Given the description of an element on the screen output the (x, y) to click on. 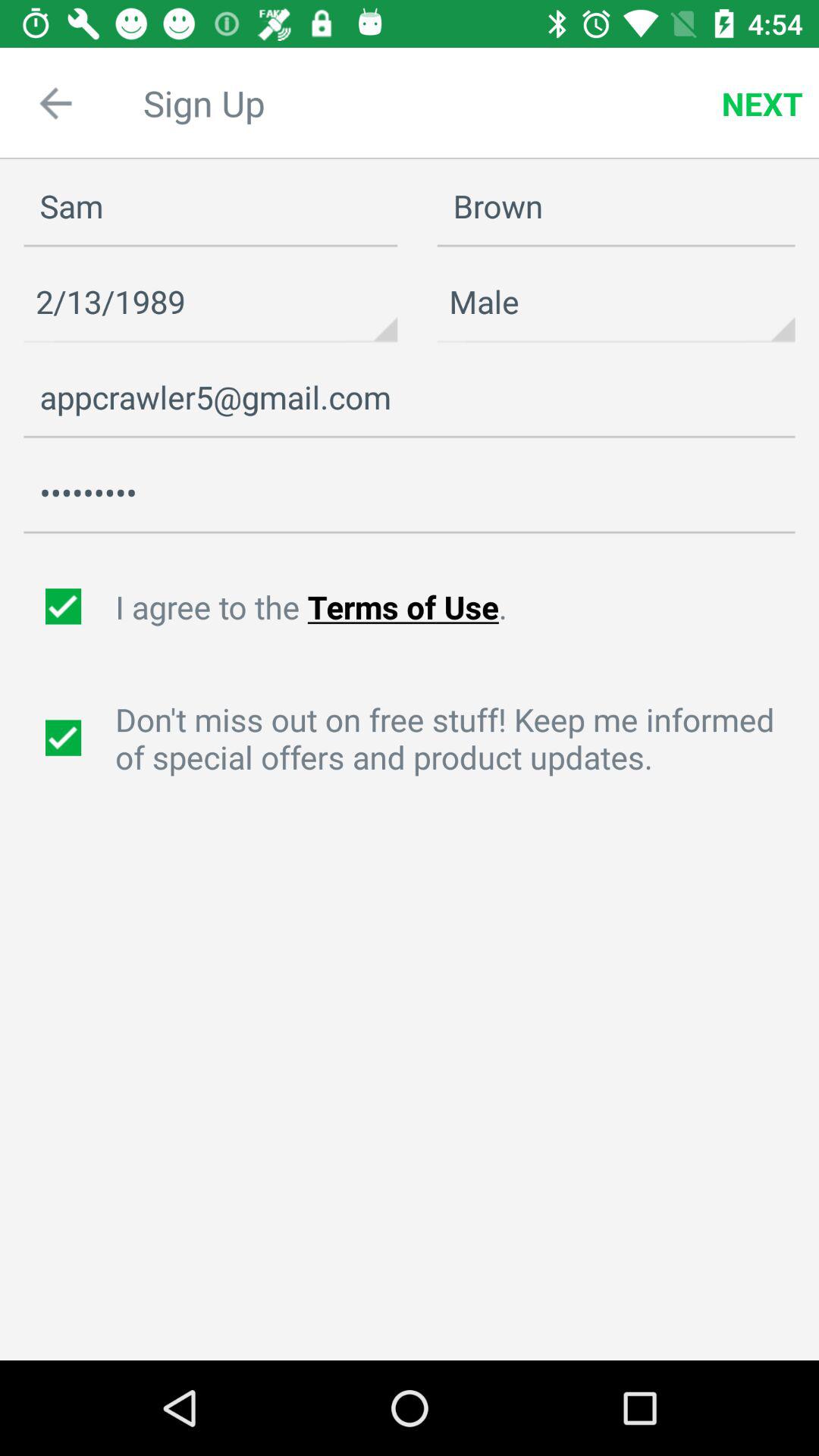
check/uncheck terms of use agreement (65, 606)
